Given the description of an element on the screen output the (x, y) to click on. 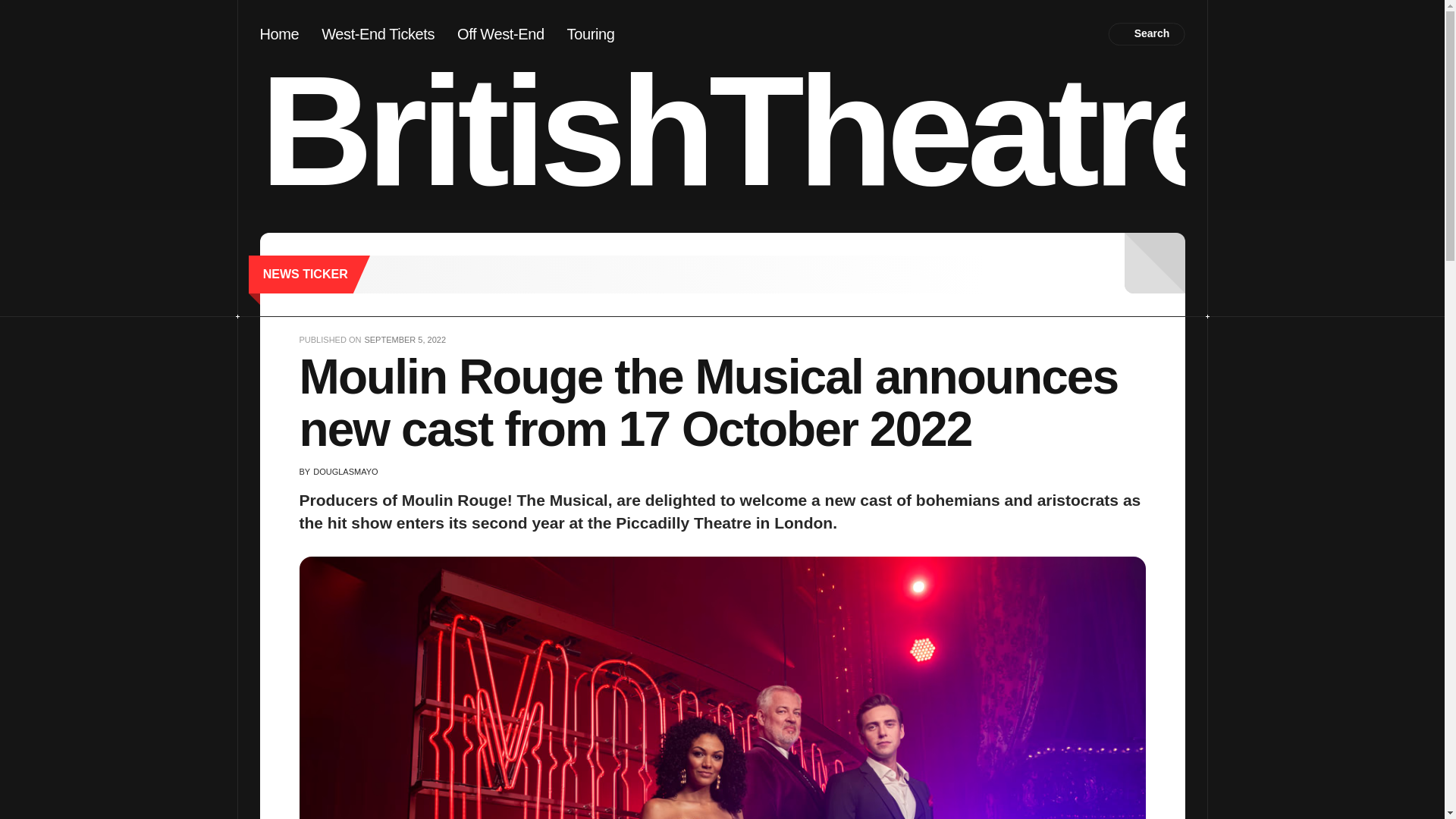
Touring (590, 33)
West-End Tickets (377, 33)
Home (278, 33)
Off West-End (500, 33)
